Given the description of an element on the screen output the (x, y) to click on. 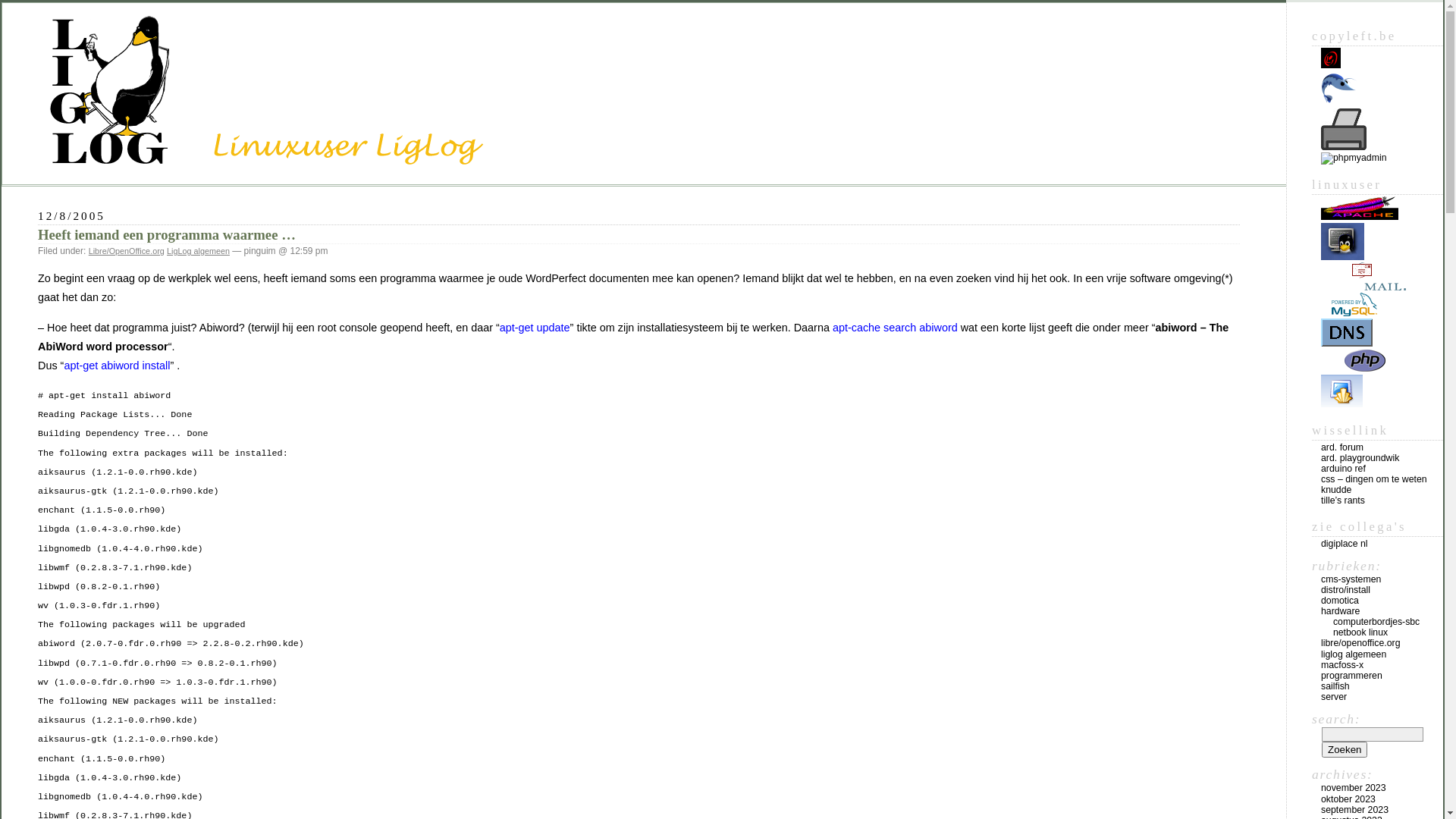
netbook linux Element type: text (1360, 632)
webserver op Linux ea Element type: hover (1359, 216)
hardware Element type: text (1340, 610)
domotica Element type: text (1339, 600)
Home Element type: hover (1330, 64)
mailserver Element type: hover (1363, 276)
Linux Gebruiker Log Element type: hover (333, 139)
programmeren Element type: text (1351, 675)
phpMyAdmin Element type: hover (1353, 157)
Linux besturing via de command prompt Element type: hover (1342, 256)
digiplace nl Element type: text (1344, 543)
libre/openoffice.org Element type: text (1360, 642)
Linux besturing via de command prompt Element type: hover (1342, 241)
LigLog algemeen Element type: text (197, 250)
database-server Element type: hover (1354, 304)
computerbordjes-sbc Element type: text (1376, 621)
ard. playgroundwik Element type: text (1360, 457)
PHP notes Element type: hover (1354, 360)
macfoss-x Element type: text (1342, 664)
server Element type: text (1333, 696)
PHP notes Element type: hover (1354, 369)
CUPS printerbeheer op mijn localhost Element type: hover (1343, 146)
Libre/OpenOffice.org Element type: text (126, 250)
Gambas programmeeromgeving voor Linux Element type: hover (1338, 88)
cms-systemen Element type: text (1350, 579)
tcp/ip, local linux netw Element type: hover (1346, 343)
oktober 2023 Element type: text (1348, 798)
knudde Element type: text (1336, 489)
Home Element type: hover (1330, 57)
CUPS printerbeheer op mijn localhost Element type: hover (1343, 129)
november 2023 Element type: text (1353, 787)
webserver op Linux ea Element type: hover (1359, 207)
mailserver Element type: hover (1363, 287)
september 2023 Element type: text (1354, 809)
Zoeken Element type: text (1344, 749)
sailfish Element type: text (1335, 685)
ard. forum Element type: text (1342, 447)
arduino ref Element type: text (1343, 468)
Gambas programmeeromgeving voor Linux Element type: hover (1338, 102)
distro/install Element type: text (1345, 589)
liglog algemeen Element type: text (1353, 654)
database-server Element type: hover (1354, 312)
tcp/ip, local linux netw Element type: hover (1346, 332)
phpMyAdmin Element type: hover (1353, 158)
